Given the description of an element on the screen output the (x, y) to click on. 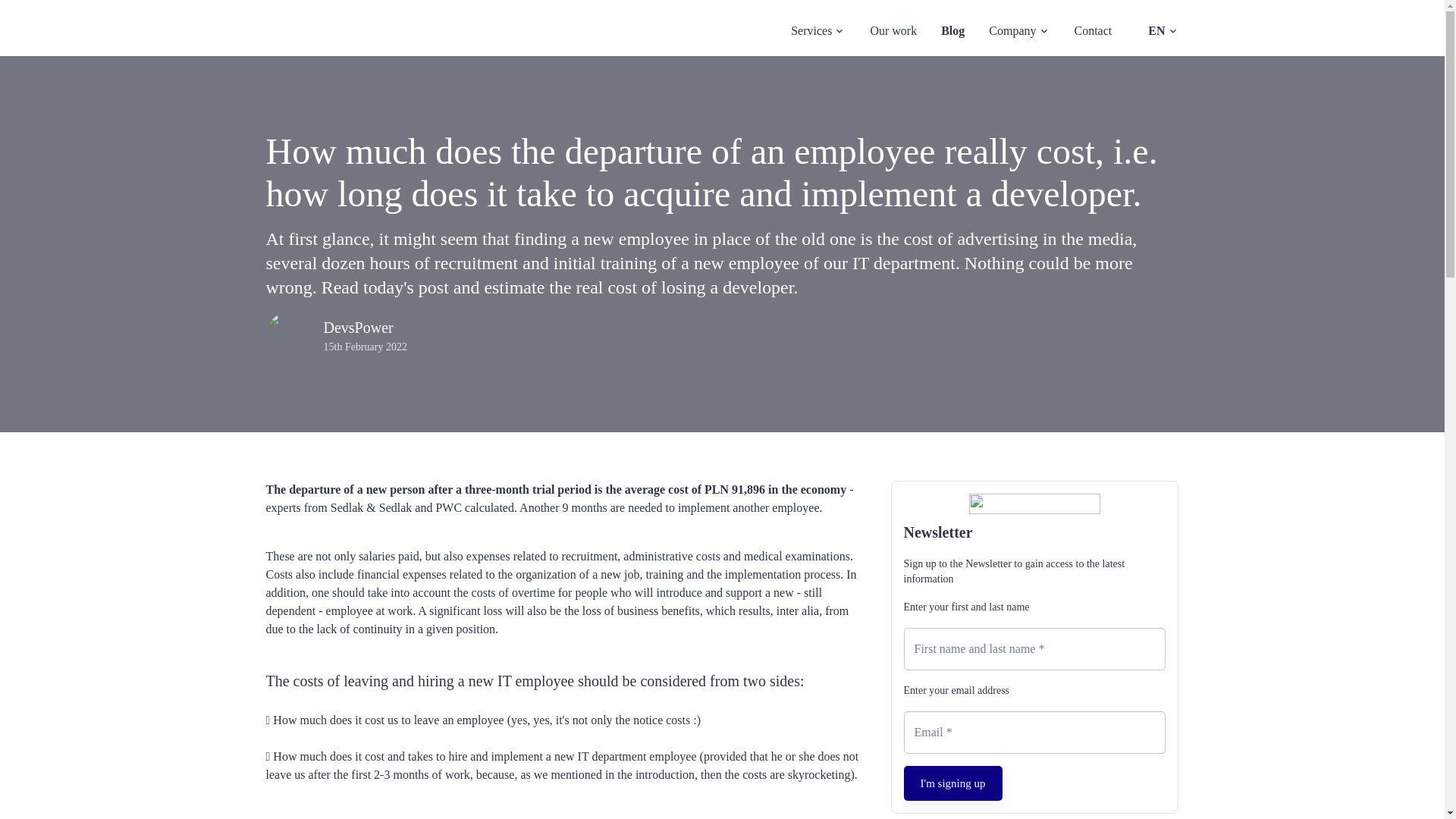
Our work (893, 31)
Blog (951, 31)
Contact (1093, 31)
I'm signing up (953, 782)
DevsPower (298, 32)
